Given the description of an element on the screen output the (x, y) to click on. 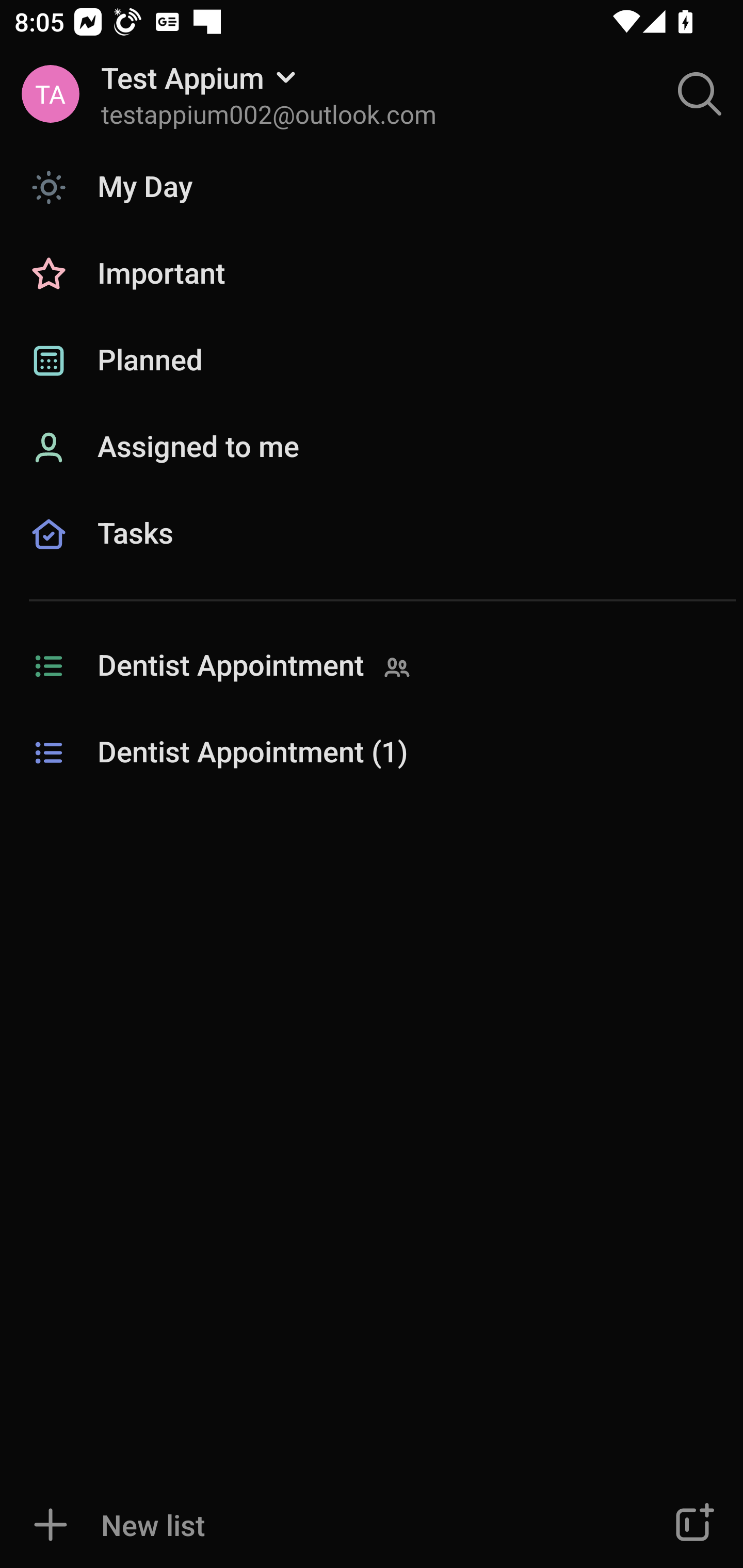
Enter search (699, 93)
My Day, 0 tasks My Day (371, 187)
Important, 0 tasks Important (371, 274)
Planned, 0 tasks Planned (371, 361)
Assigned to me, 0 tasks Assigned to me (371, 447)
Tasks (371, 556)
Dentist Appointment (1) (371, 753)
New list (312, 1524)
Create group (692, 1524)
